Given the description of an element on the screen output the (x, y) to click on. 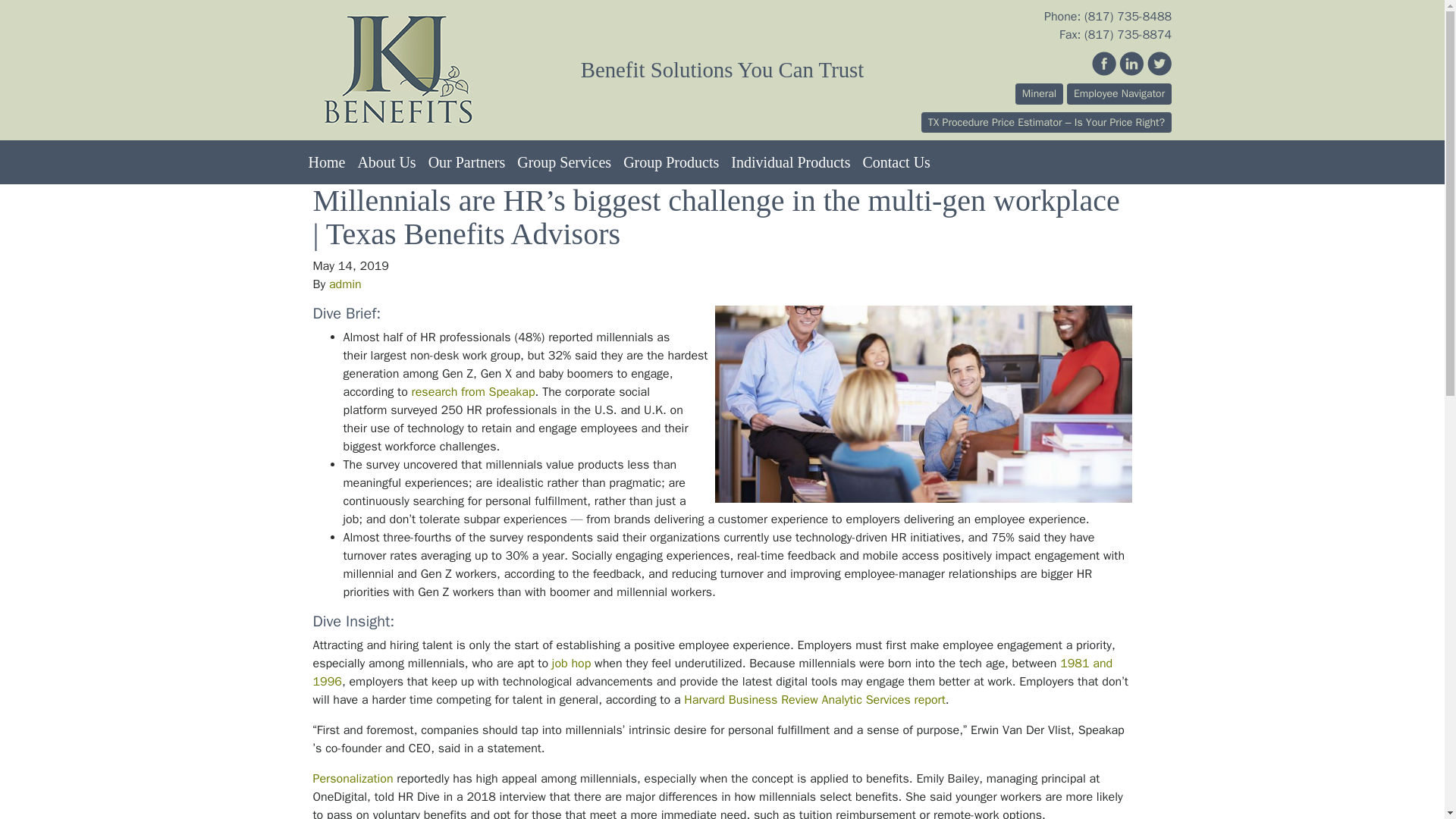
Our Partners (467, 161)
1981 and 1996 (712, 672)
Group Services (564, 161)
Contact Us (896, 161)
Harvard Business Review Analytic Services (797, 699)
admin (345, 283)
Individual Products (790, 161)
Group Products (671, 161)
Employee Navigator (1119, 93)
job hop (571, 663)
research from Speakap (473, 391)
Personalization (353, 778)
About Us (386, 161)
Home (325, 161)
Mineral (1038, 93)
